Given the description of an element on the screen output the (x, y) to click on. 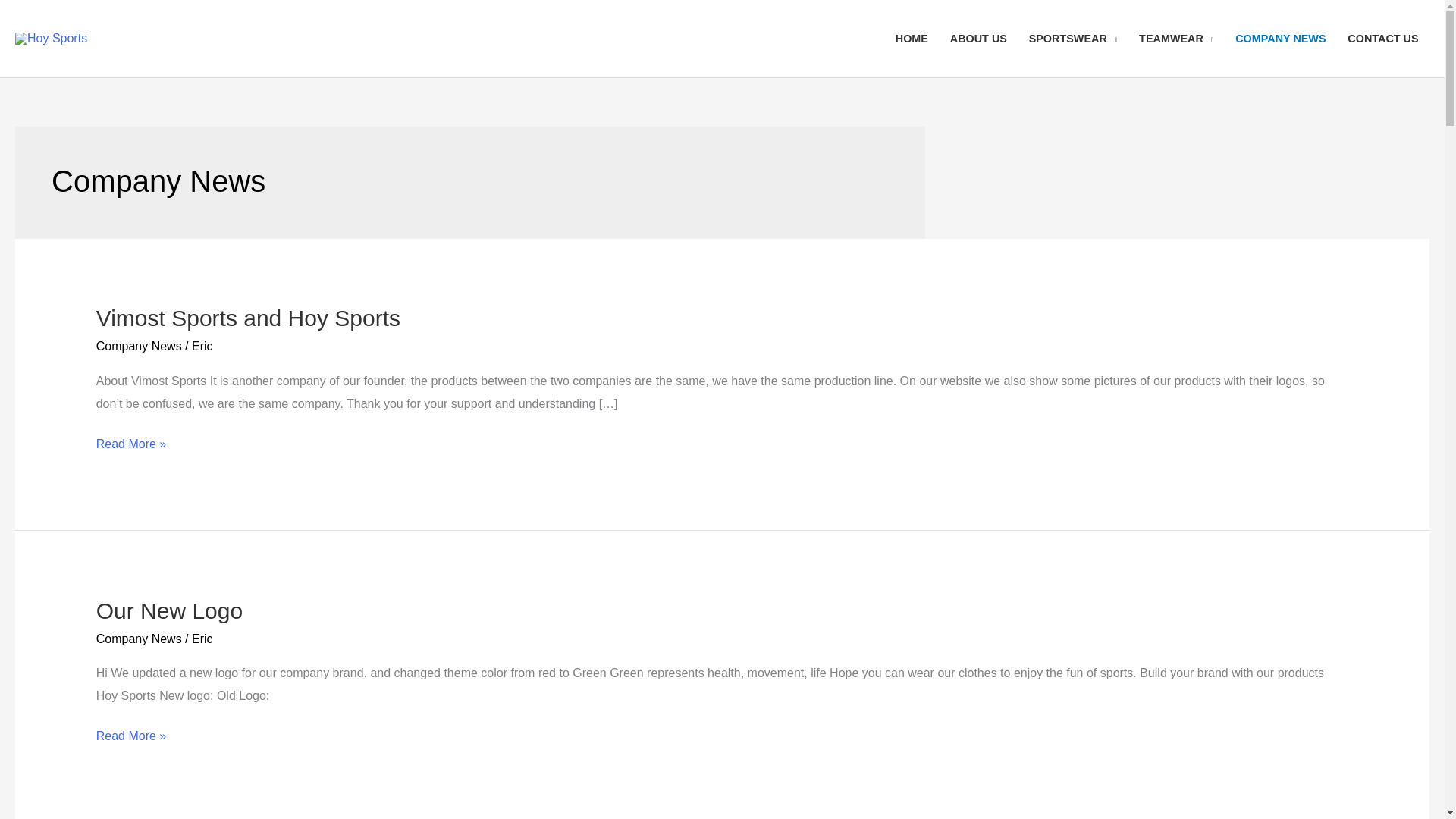
ABOUT US (978, 38)
SPORTSWEAR (1071, 38)
HOME (911, 38)
View all posts by Eric (202, 345)
TEAMWEAR (1176, 38)
View all posts by Eric (202, 638)
CONTACT US (1382, 38)
COMPANY NEWS (1280, 38)
